Given the description of an element on the screen output the (x, y) to click on. 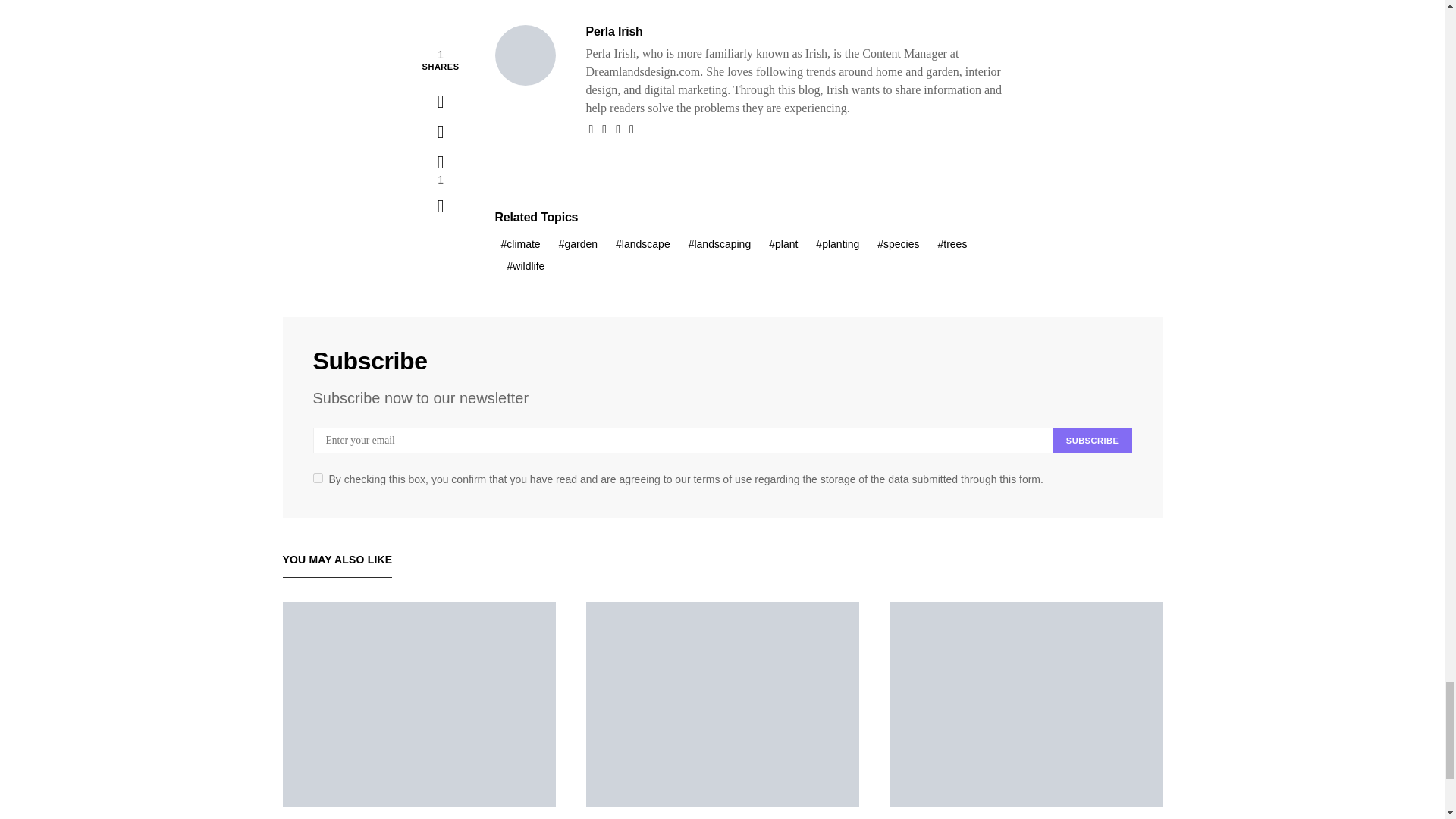
on (317, 478)
